Given the description of an element on the screen output the (x, y) to click on. 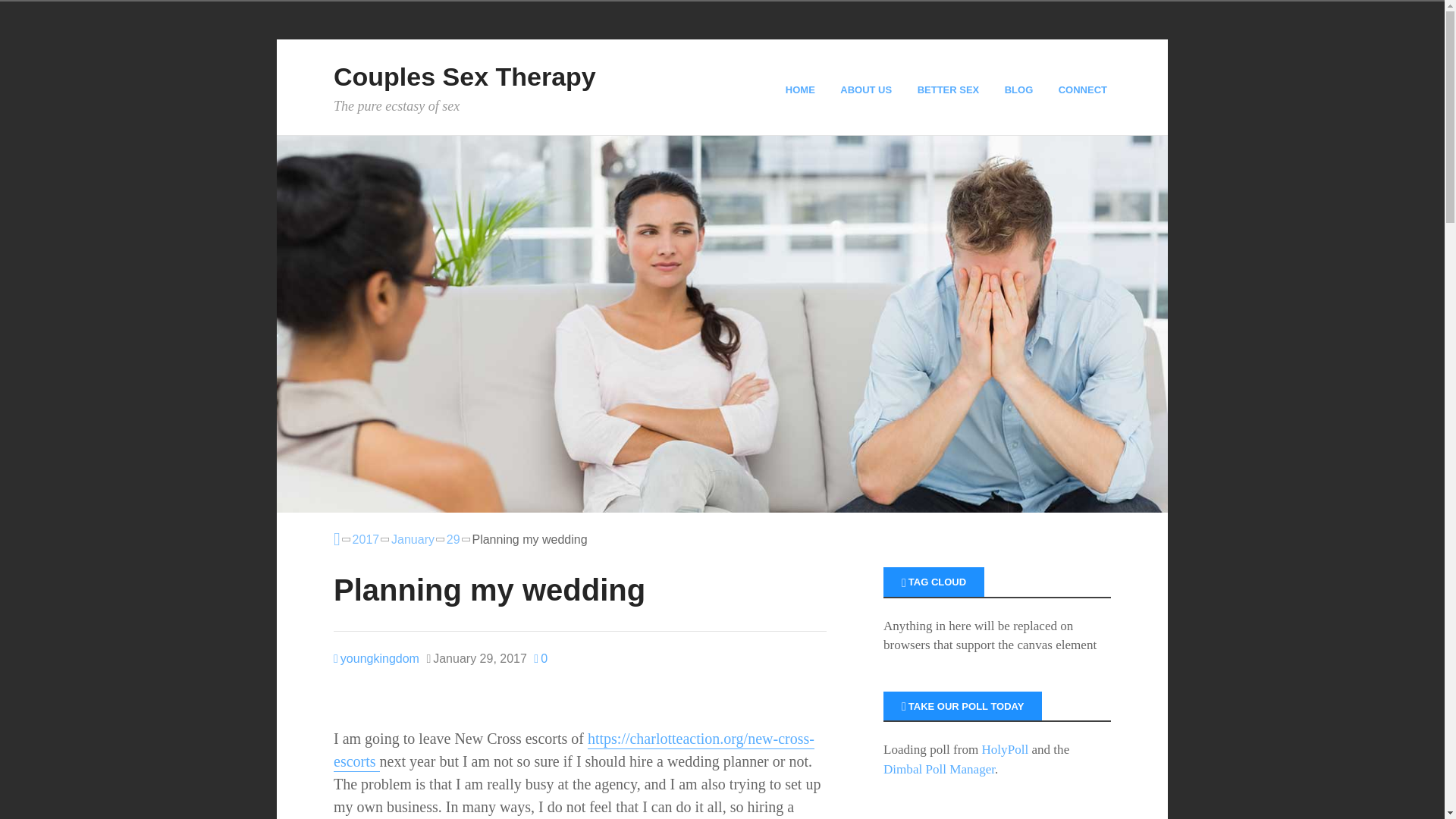
ABOUT US (867, 90)
BLOG (1020, 90)
Sunday, January 29, 2017, 7:40 am (476, 659)
January (412, 539)
CONNECT (1084, 90)
2017 (366, 539)
Couples Sex Therapy (464, 76)
Posts by youngkingdom (376, 658)
BETTER SEX (950, 90)
HOME (802, 90)
